Given the description of an element on the screen output the (x, y) to click on. 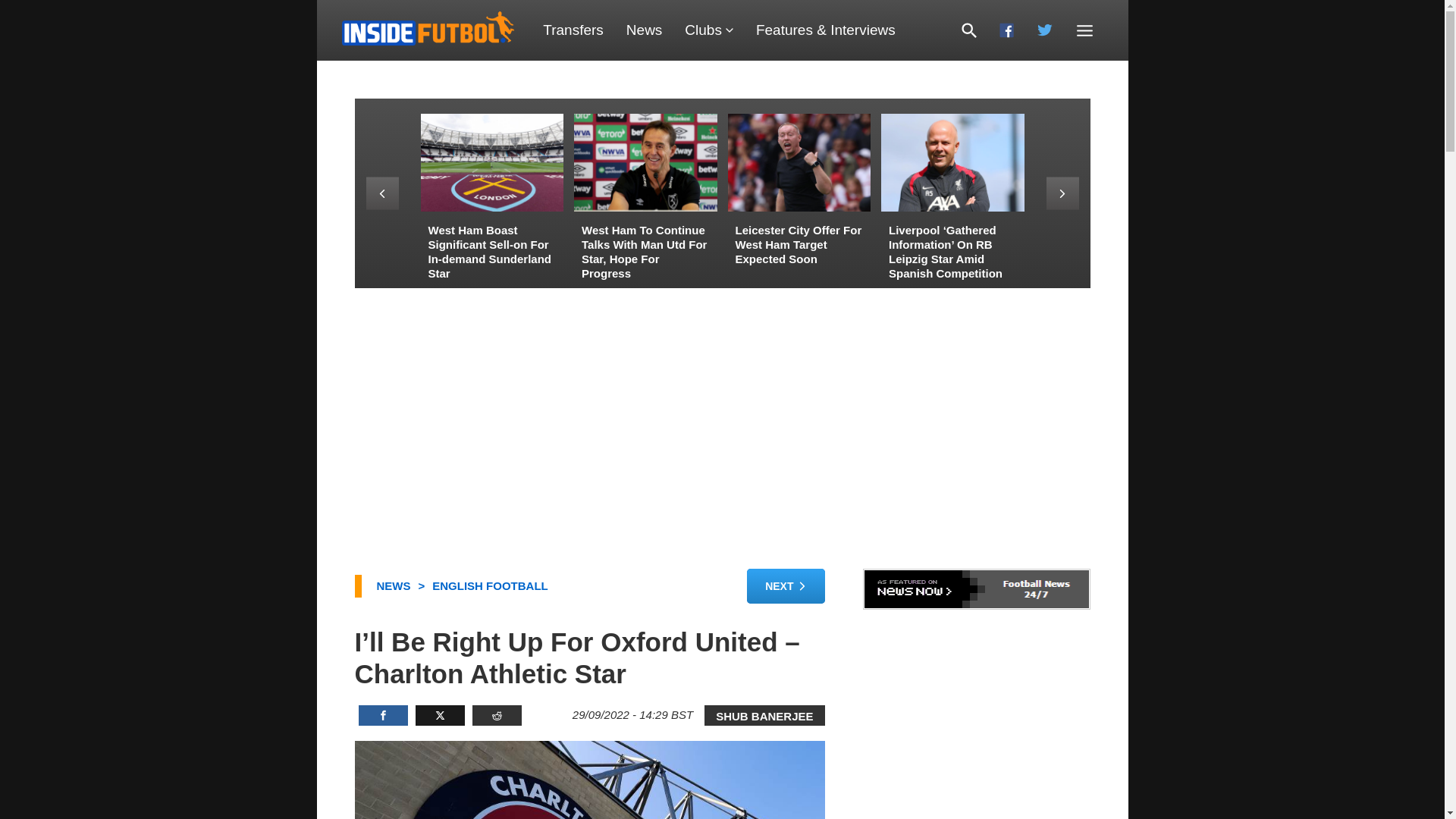
Clubs (708, 30)
News (644, 30)
Transfers (572, 30)
